Given the description of an element on the screen output the (x, y) to click on. 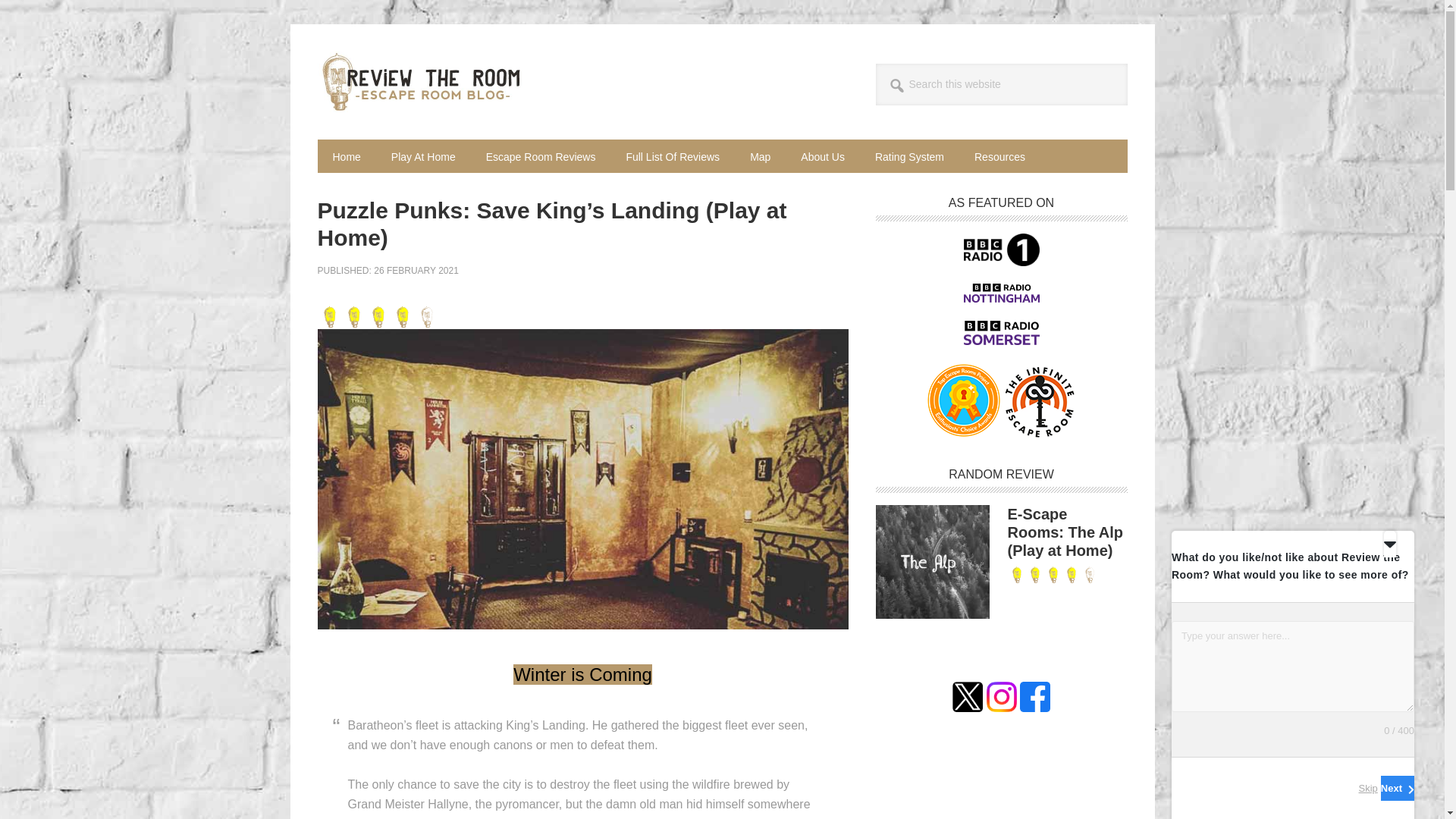
REVIEW THE ROOM (419, 81)
Map (760, 155)
About Us (823, 155)
Resources (1000, 155)
Full List Of Reviews (672, 155)
Escape Room Reviews (540, 155)
Play At Home (422, 155)
Home (346, 155)
